Given the description of an element on the screen output the (x, y) to click on. 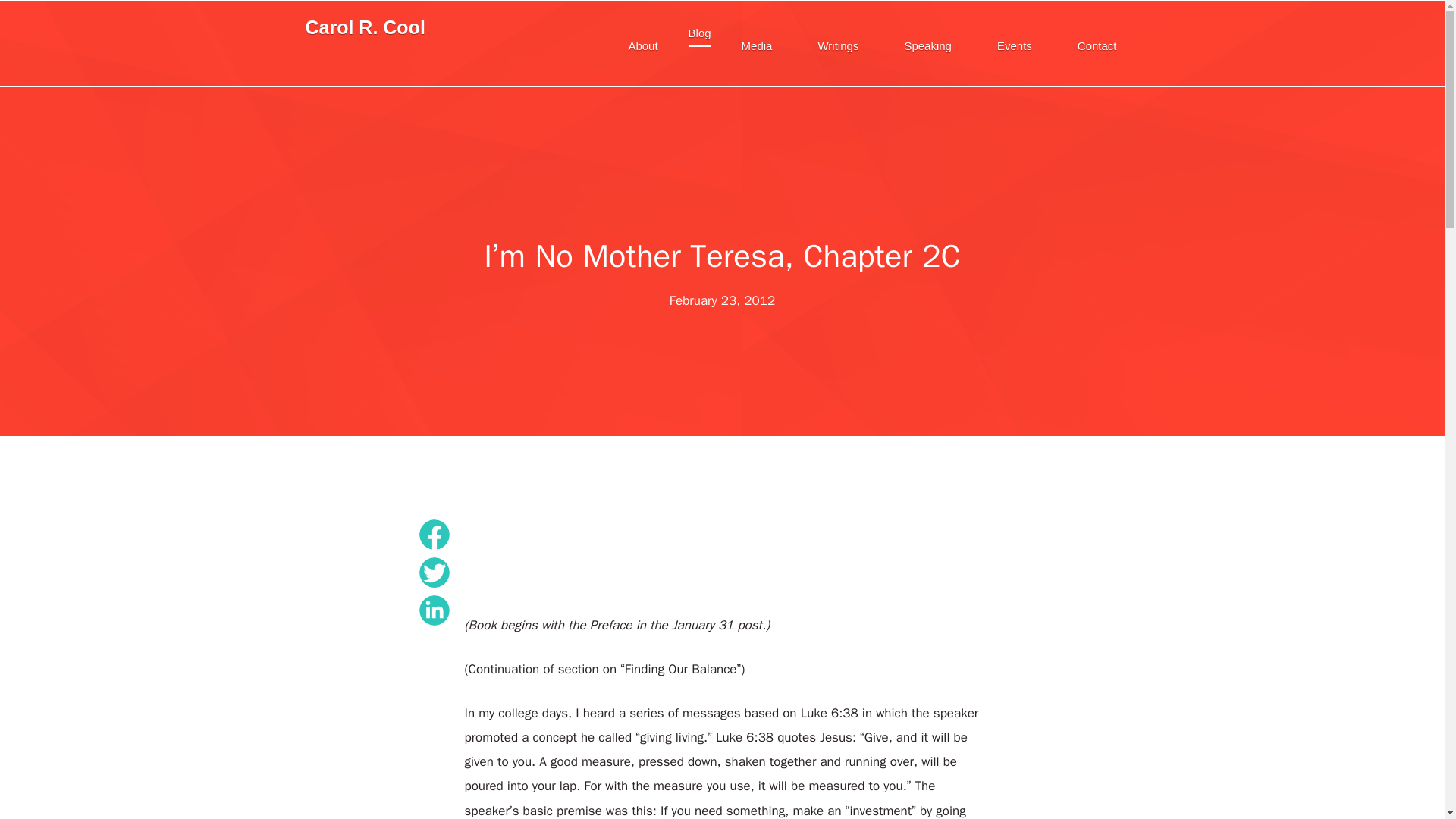
Blog (699, 34)
About (642, 47)
Writings (837, 47)
Events (1013, 47)
Media (756, 47)
Contact (1097, 47)
Speaking (927, 47)
Carol R. Cool (364, 26)
